Given the description of an element on the screen output the (x, y) to click on. 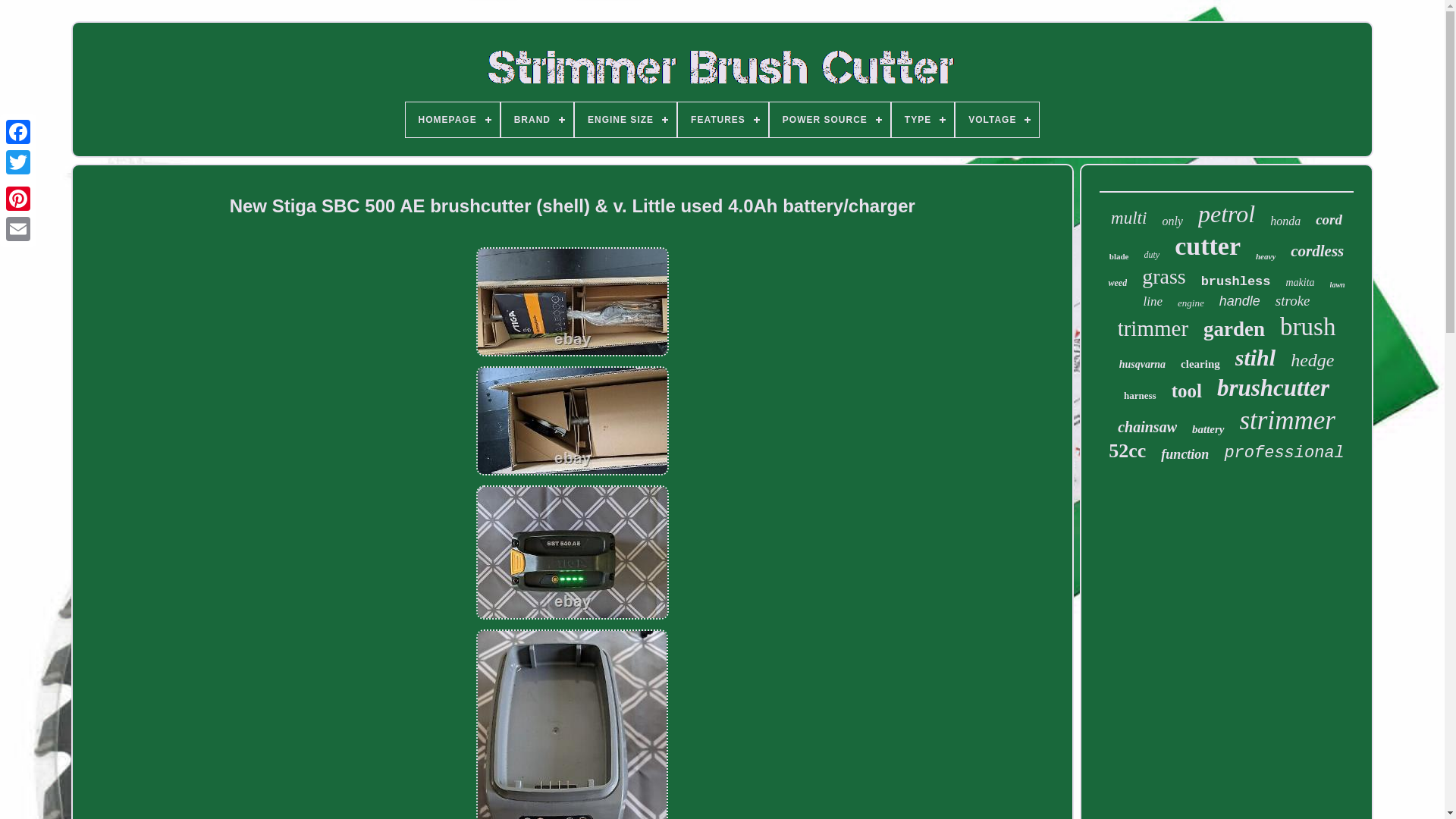
ENGINE SIZE (626, 119)
HOMEPAGE (452, 119)
BRAND (536, 119)
